Given the description of an element on the screen output the (x, y) to click on. 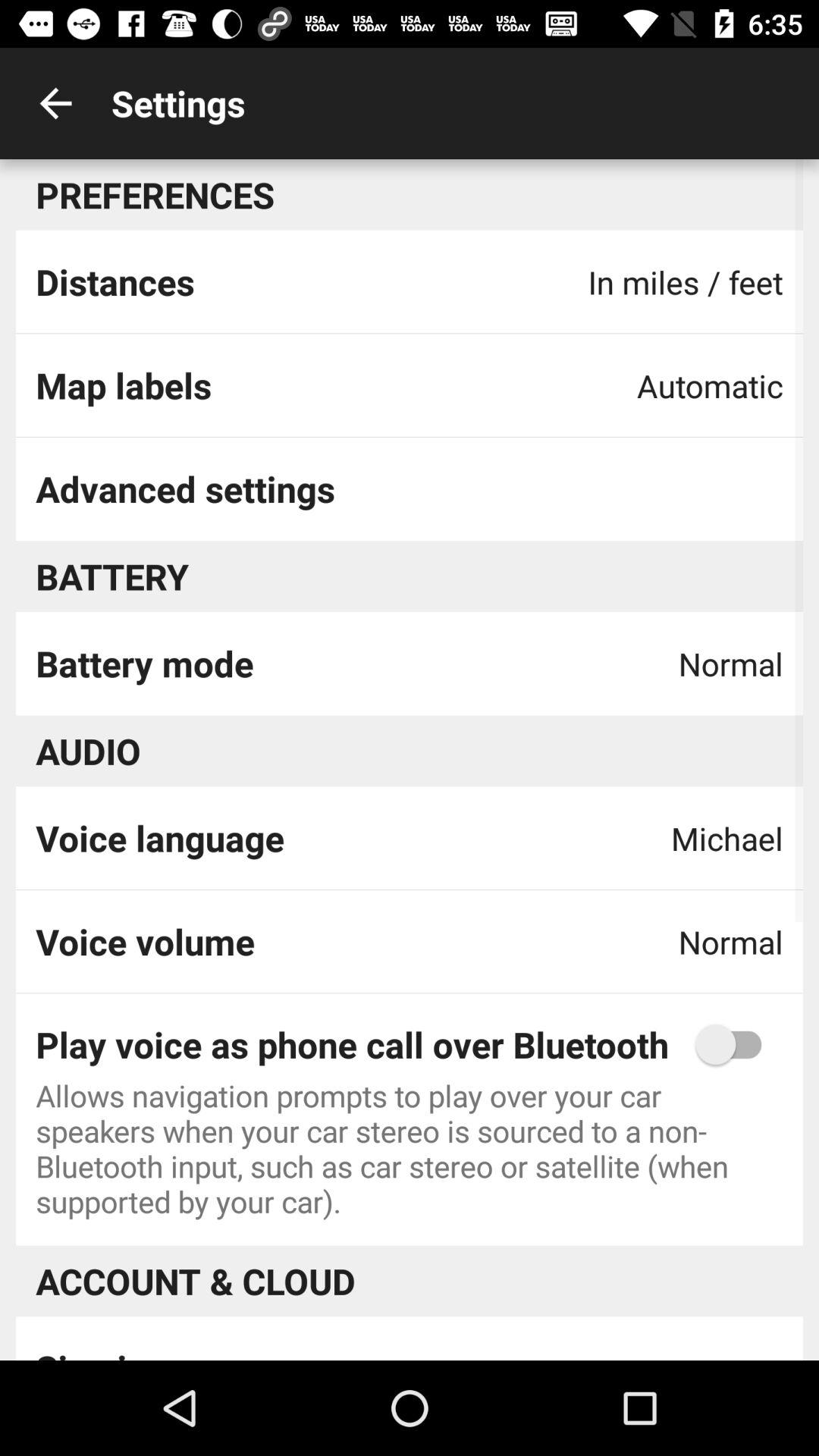
choose item below the distances icon (123, 385)
